Given the description of an element on the screen output the (x, y) to click on. 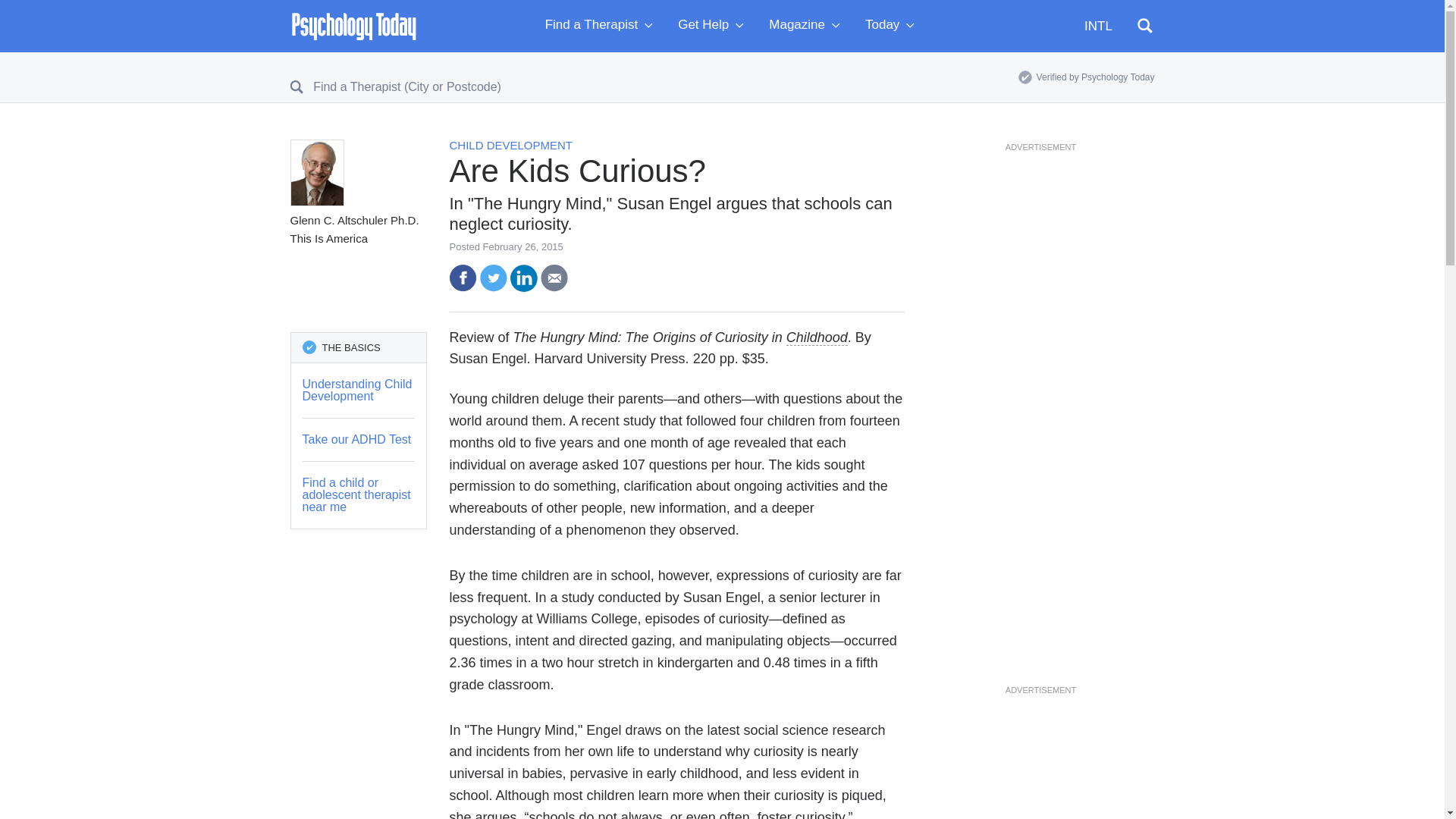
Find a Therapist (602, 25)
Get Help (714, 25)
Psychology Today (352, 25)
